Given the description of an element on the screen output the (x, y) to click on. 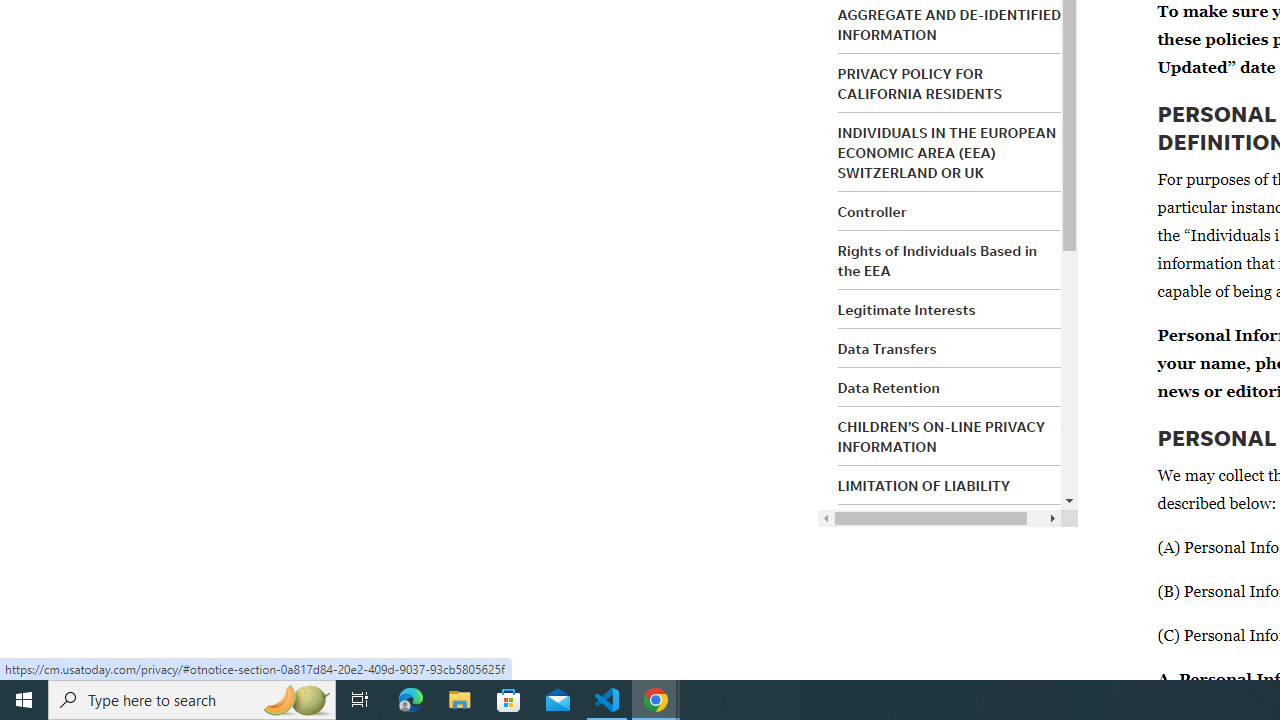
AGGREGATE AND DE-IDENTIFIED INFORMATION (949, 24)
LIMITATION OF LIABILITY (924, 485)
Controller (872, 212)
Data Retention (888, 387)
INDEMNIFICATION (900, 525)
Data Transfers (886, 348)
PRIVACY POLICY FOR CALIFORNIA RESIDENTS (919, 83)
Rights of Individuals Based in the EEA (937, 260)
Legitimate Interests (906, 309)
